Given the description of an element on the screen output the (x, y) to click on. 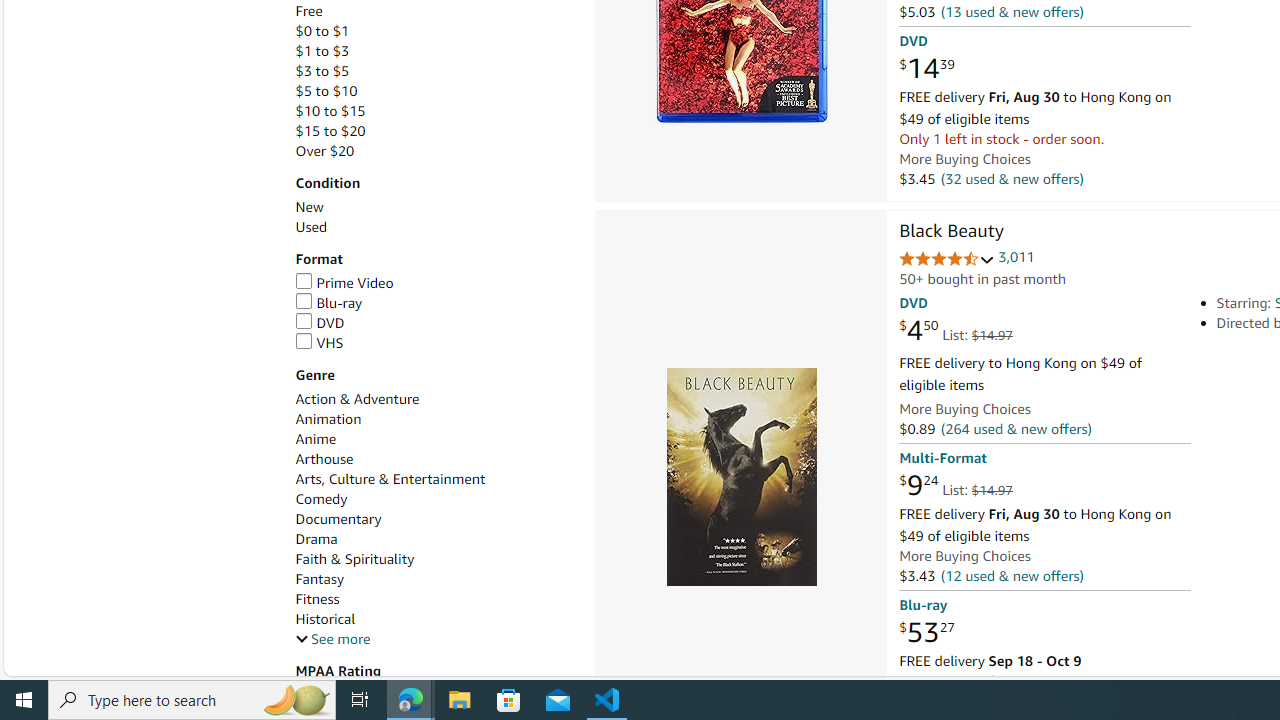
Action & Adventure (356, 399)
Go back to filtering menu (84, 666)
Prime Video (434, 283)
Anime (315, 439)
(32 used & new offers) (1011, 178)
$15 to $20 (330, 131)
Fantasy (434, 579)
Arts, Culture & Entertainment (390, 479)
Free (434, 11)
$5 to $10 (434, 91)
Historical (324, 619)
Fitness (317, 599)
Documentary (337, 519)
(13 used & new offers) (1011, 12)
Faith & Spirituality (434, 559)
